Given the description of an element on the screen output the (x, y) to click on. 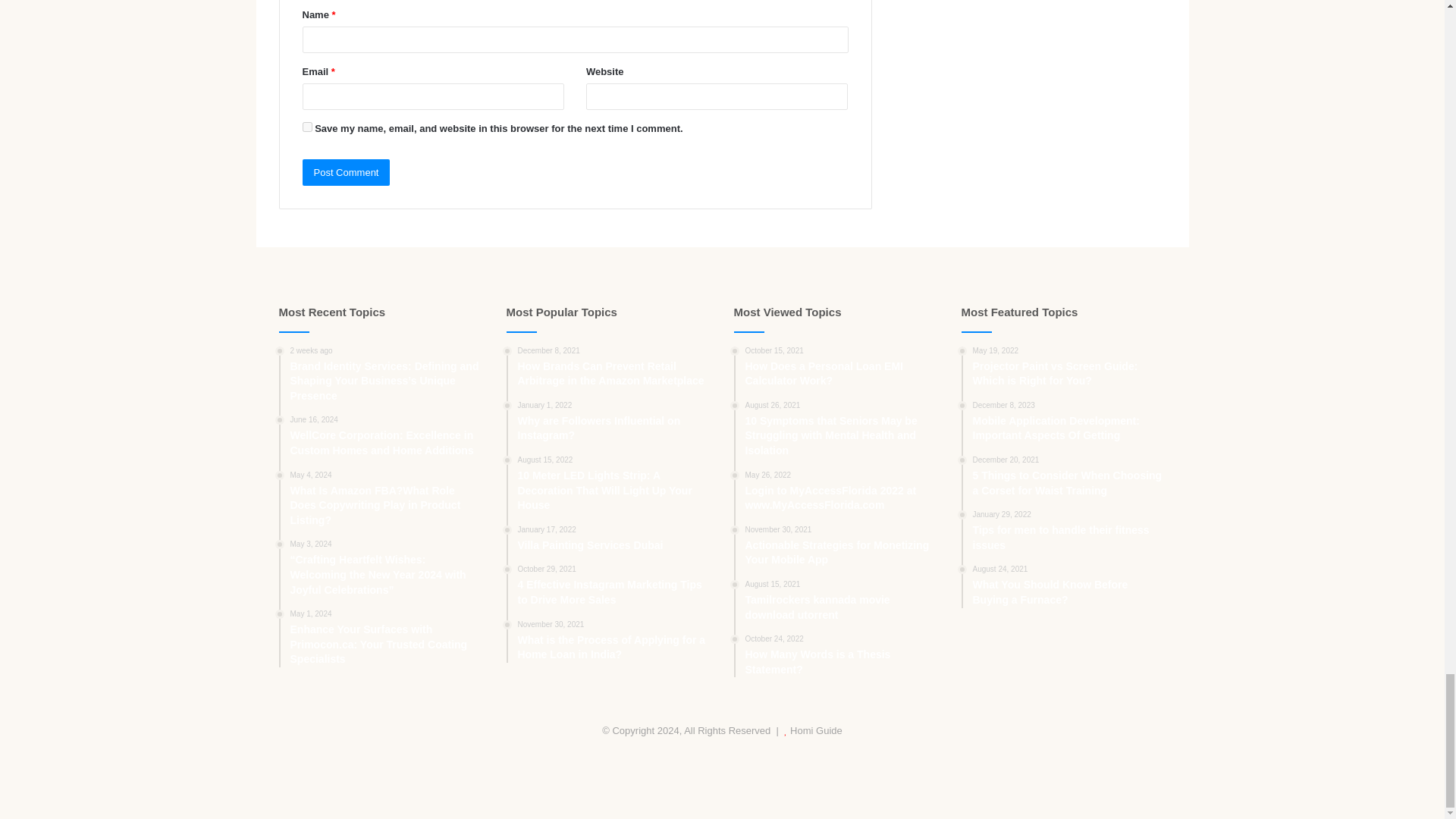
Post Comment (345, 171)
yes (306, 126)
